Given the description of an element on the screen output the (x, y) to click on. 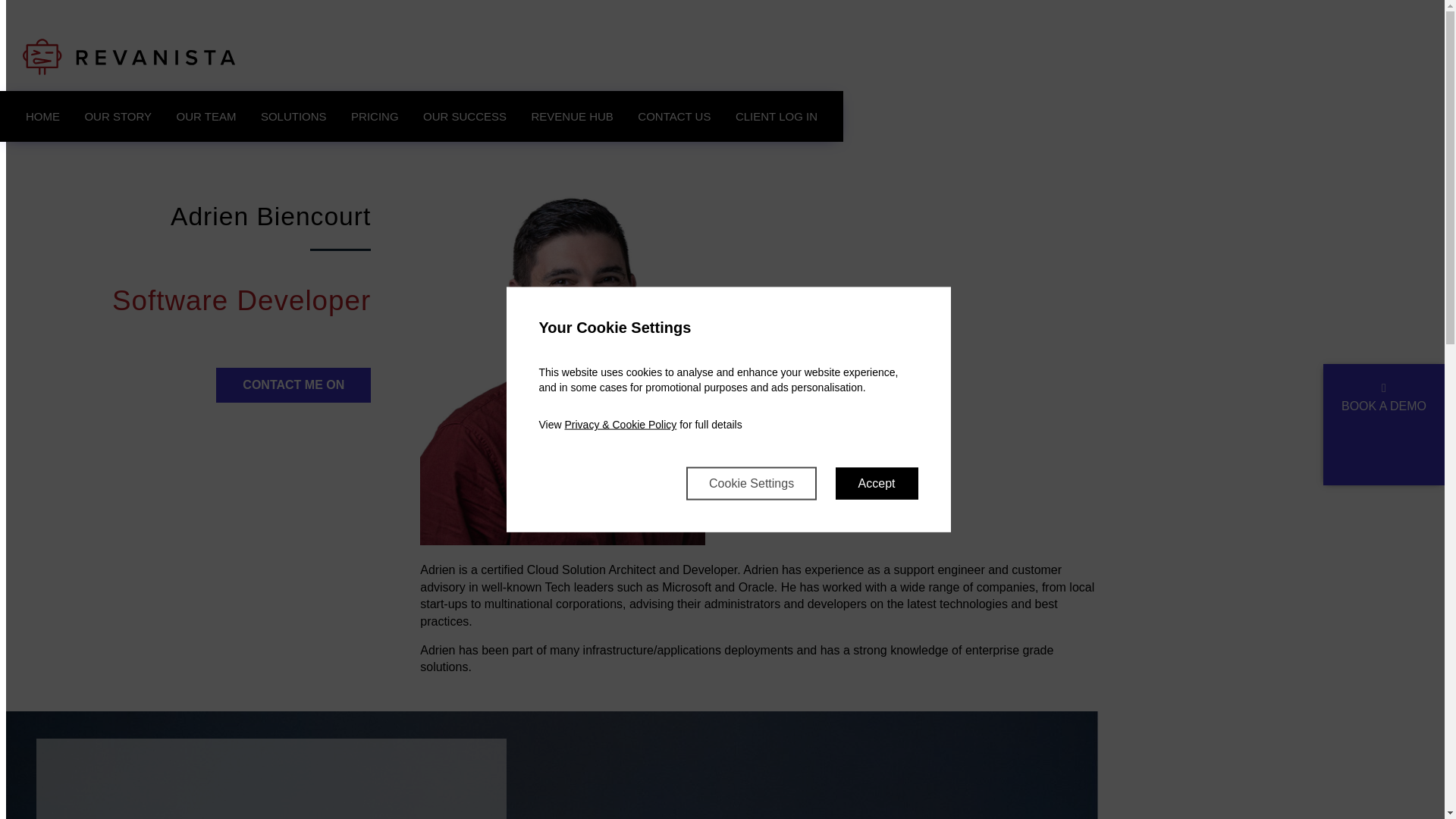
SOLUTIONS (293, 115)
OUR STORY (117, 115)
OUR TEAM (206, 115)
OUR SUCCESS (464, 115)
Cookie Settings (750, 482)
PRICING (374, 115)
HOME (41, 115)
Accept (876, 482)
